Given the description of an element on the screen output the (x, y) to click on. 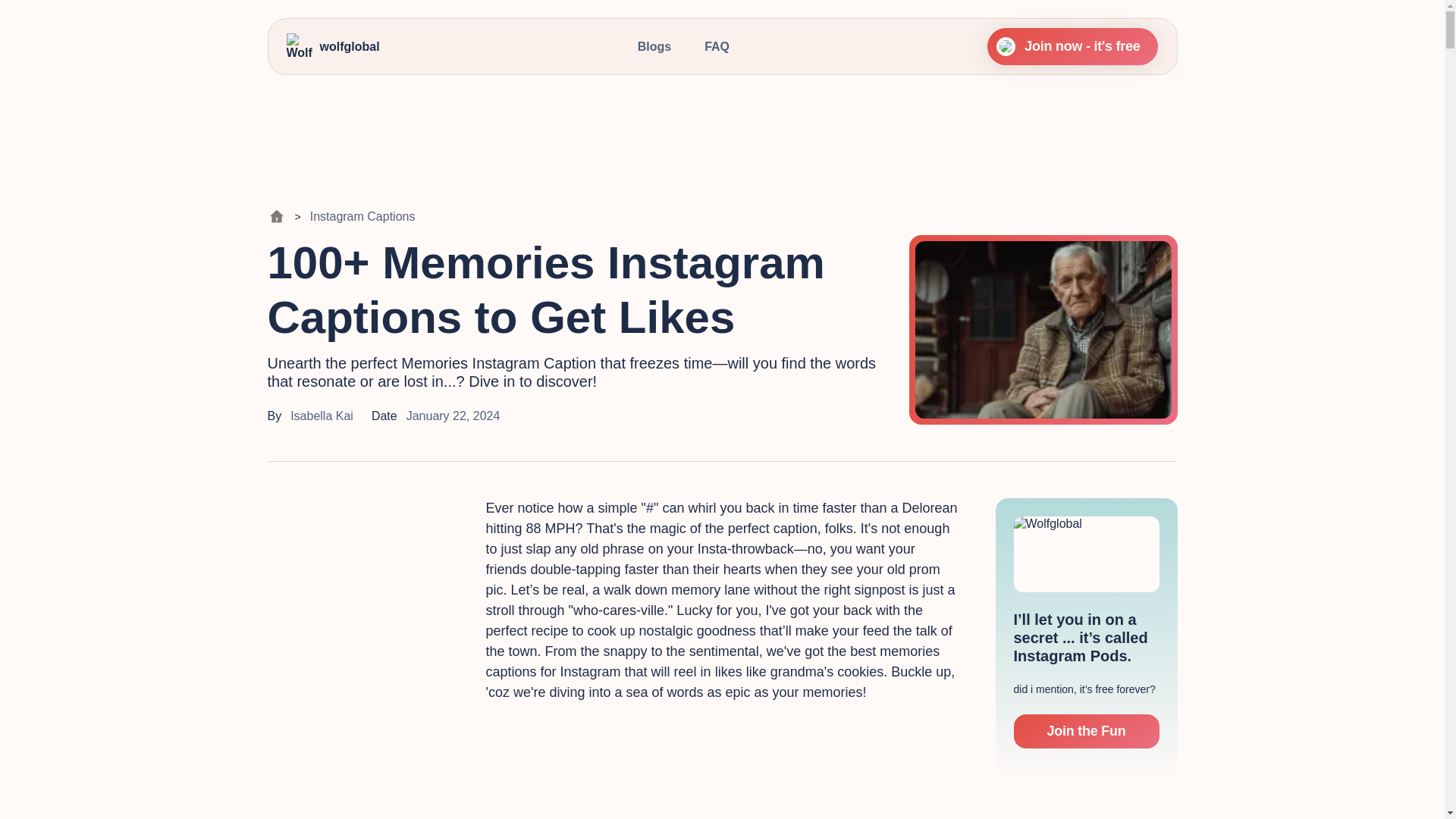
Isabella Kai (321, 415)
Instagram Captions (362, 216)
Join now - it's free (1072, 46)
Blogs (654, 46)
wolfglobal (333, 46)
FAQ (717, 46)
Join the Fun (1085, 731)
